Given the description of an element on the screen output the (x, y) to click on. 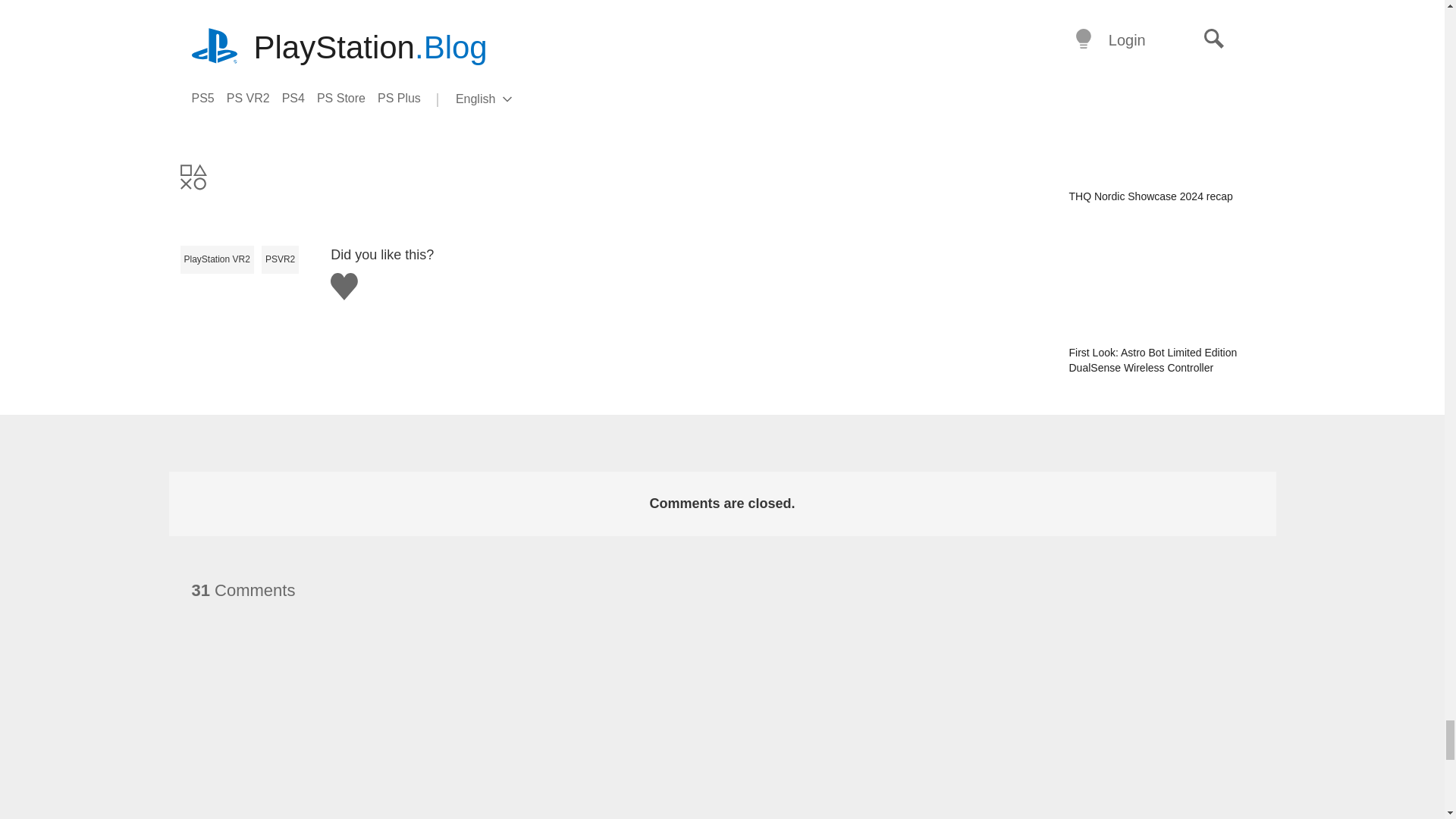
Like this (344, 286)
